Given the description of an element on the screen output the (x, y) to click on. 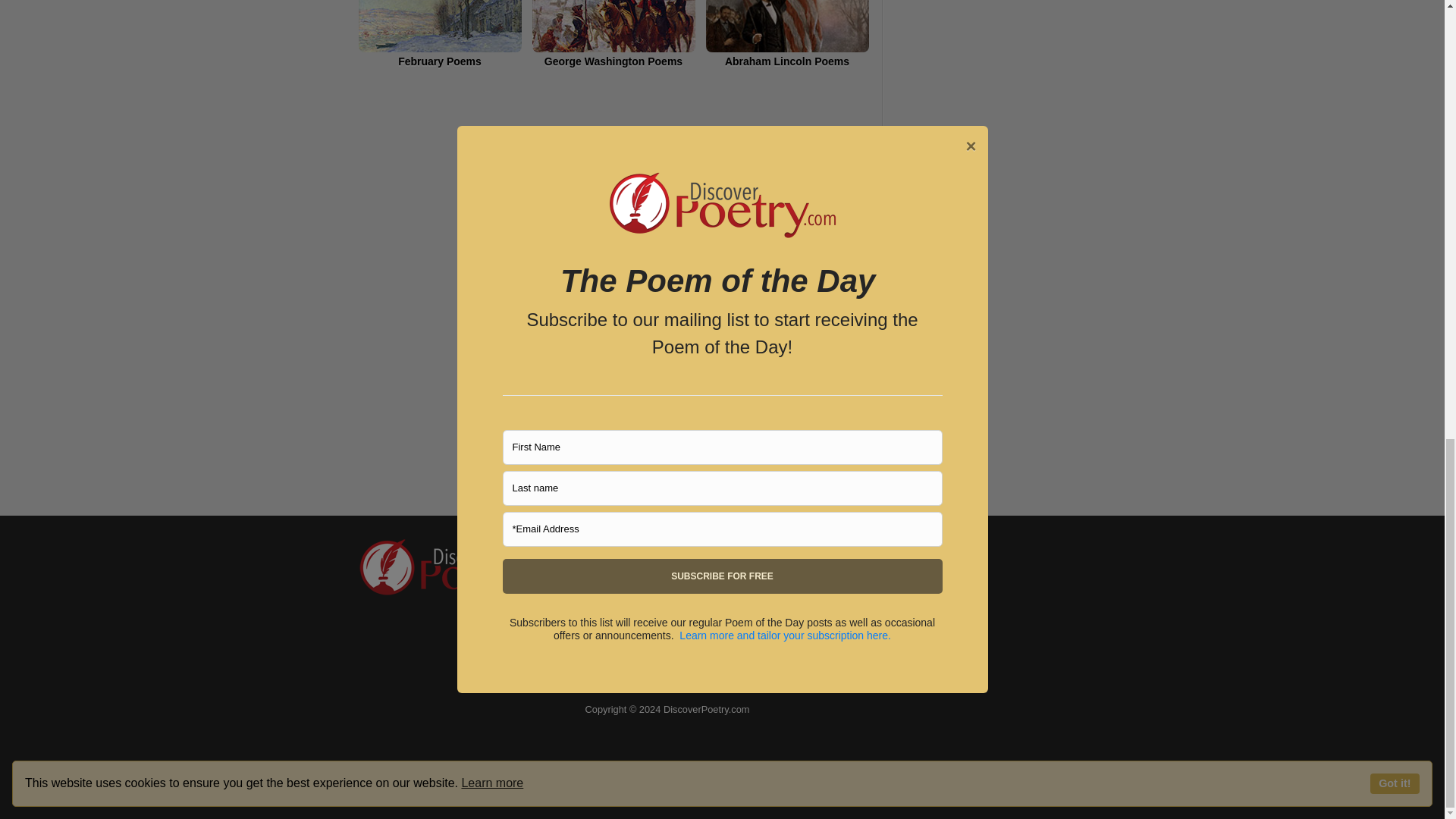
Abraham Lincoln Poems (785, 33)
Contact Us (617, 574)
George Washington Poems (613, 33)
February Poems (439, 33)
